Given the description of an element on the screen output the (x, y) to click on. 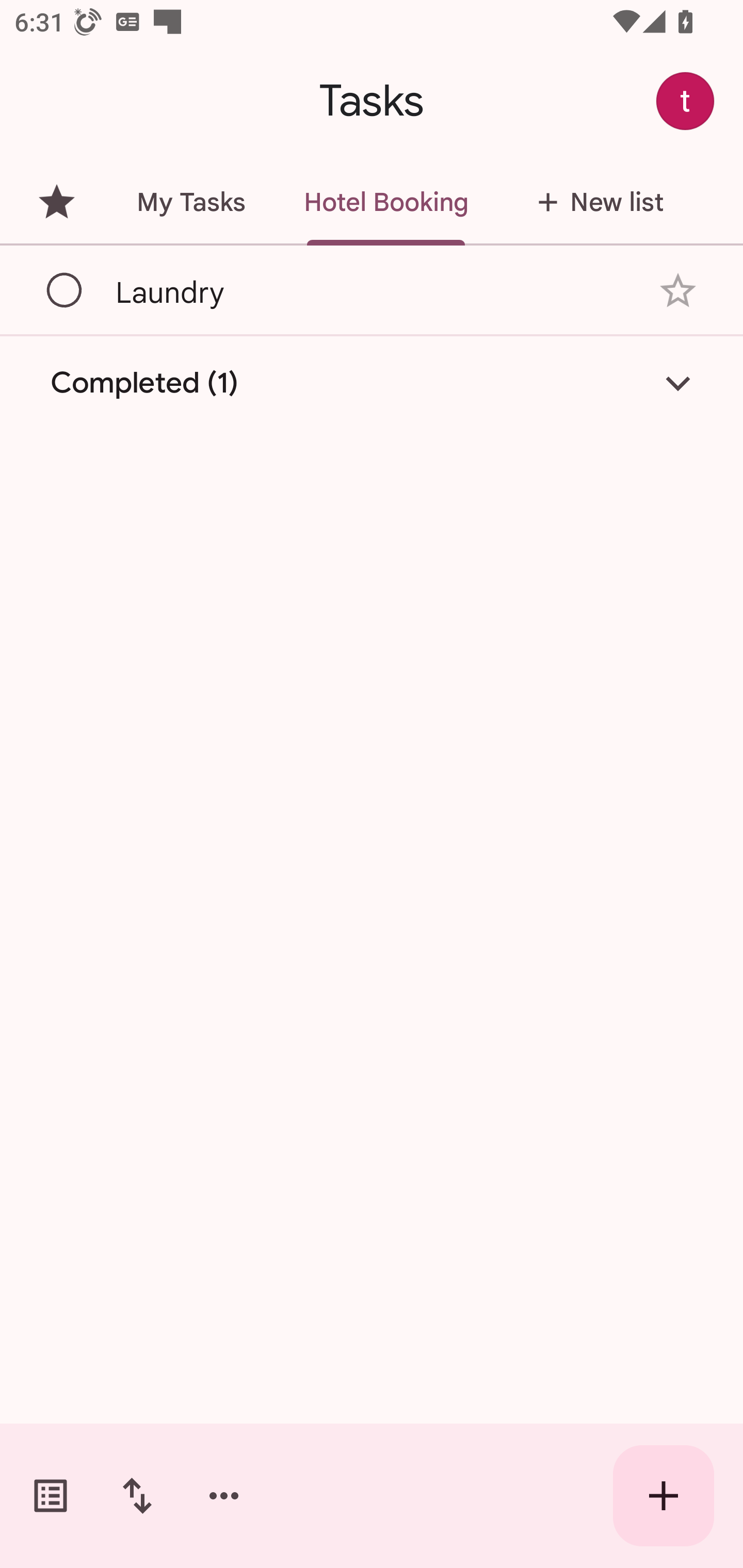
Starred (55, 202)
My Tasks (190, 202)
New list (594, 202)
Laundry Laundry Add star Mark as complete (371, 289)
Add star (677, 290)
Mark as complete (64, 290)
Completed (1) (371, 382)
Switch task lists (50, 1495)
Create new task (663, 1495)
Change sort order (136, 1495)
More options (223, 1495)
